Given the description of an element on the screen output the (x, y) to click on. 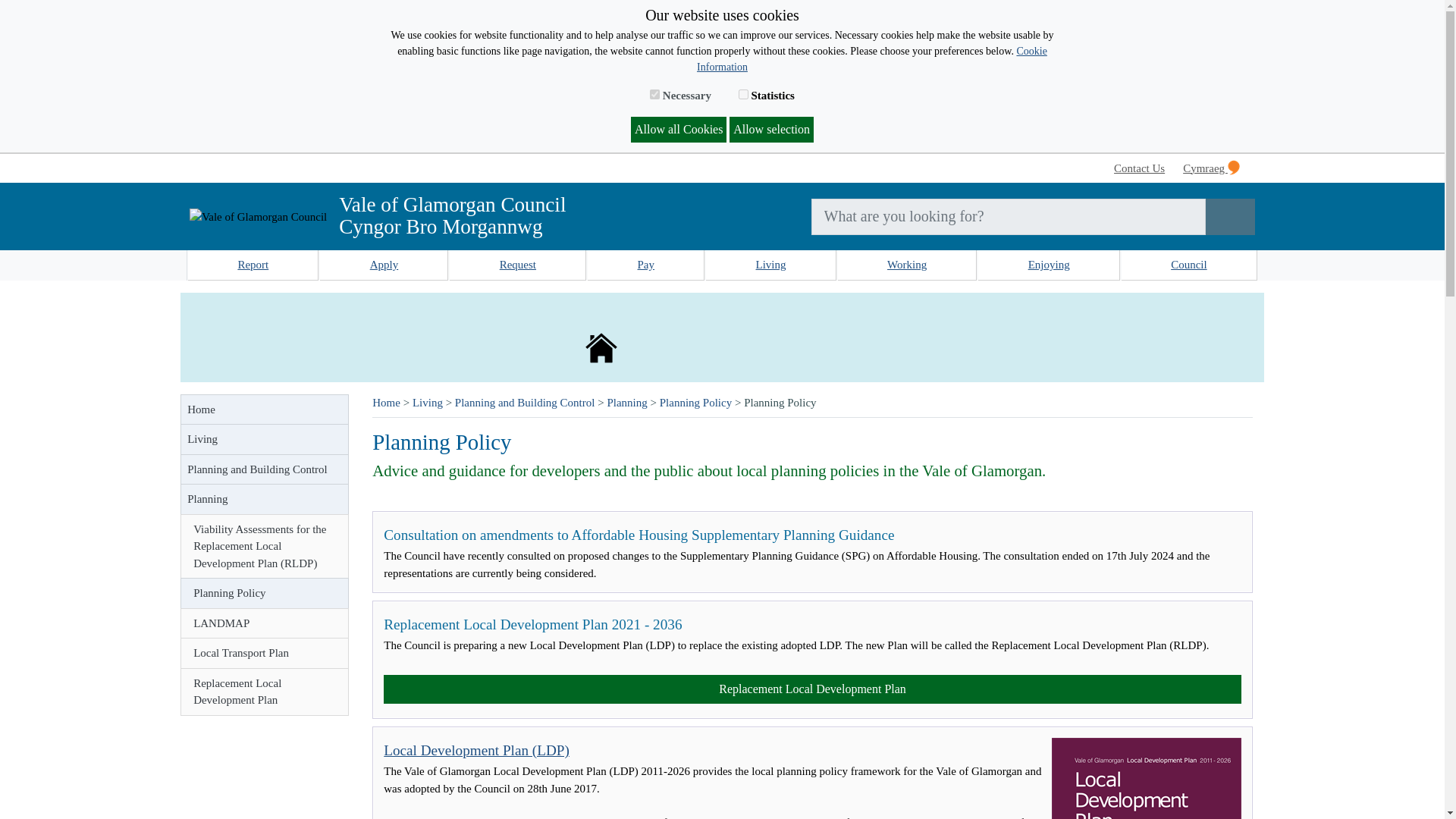
Allow all Cookies (678, 129)
Allow all Cookies (678, 129)
on (654, 94)
Learn More (871, 58)
on (743, 94)
Allow selection (771, 129)
Cookie Information (871, 58)
Allow selection (771, 129)
